Given the description of an element on the screen output the (x, y) to click on. 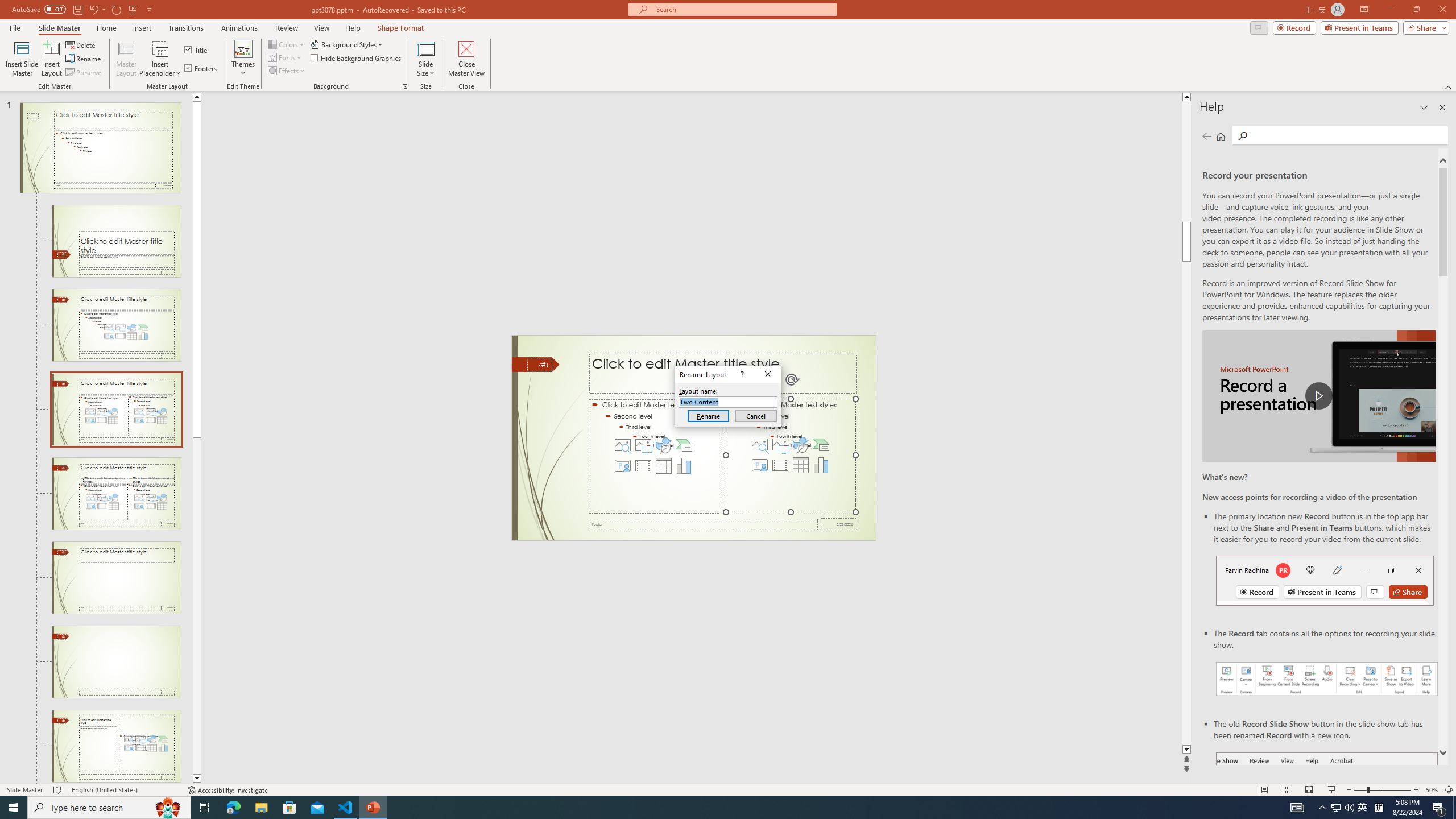
Slide Size (425, 58)
Record button in top bar (1324, 580)
Layout name (727, 401)
Insert Slide Master (21, 58)
Date (839, 524)
Preserve (84, 72)
Fonts (285, 56)
Action Center, 1 new notification (1439, 807)
Record your presentations screenshot one (1326, 678)
